Given the description of an element on the screen output the (x, y) to click on. 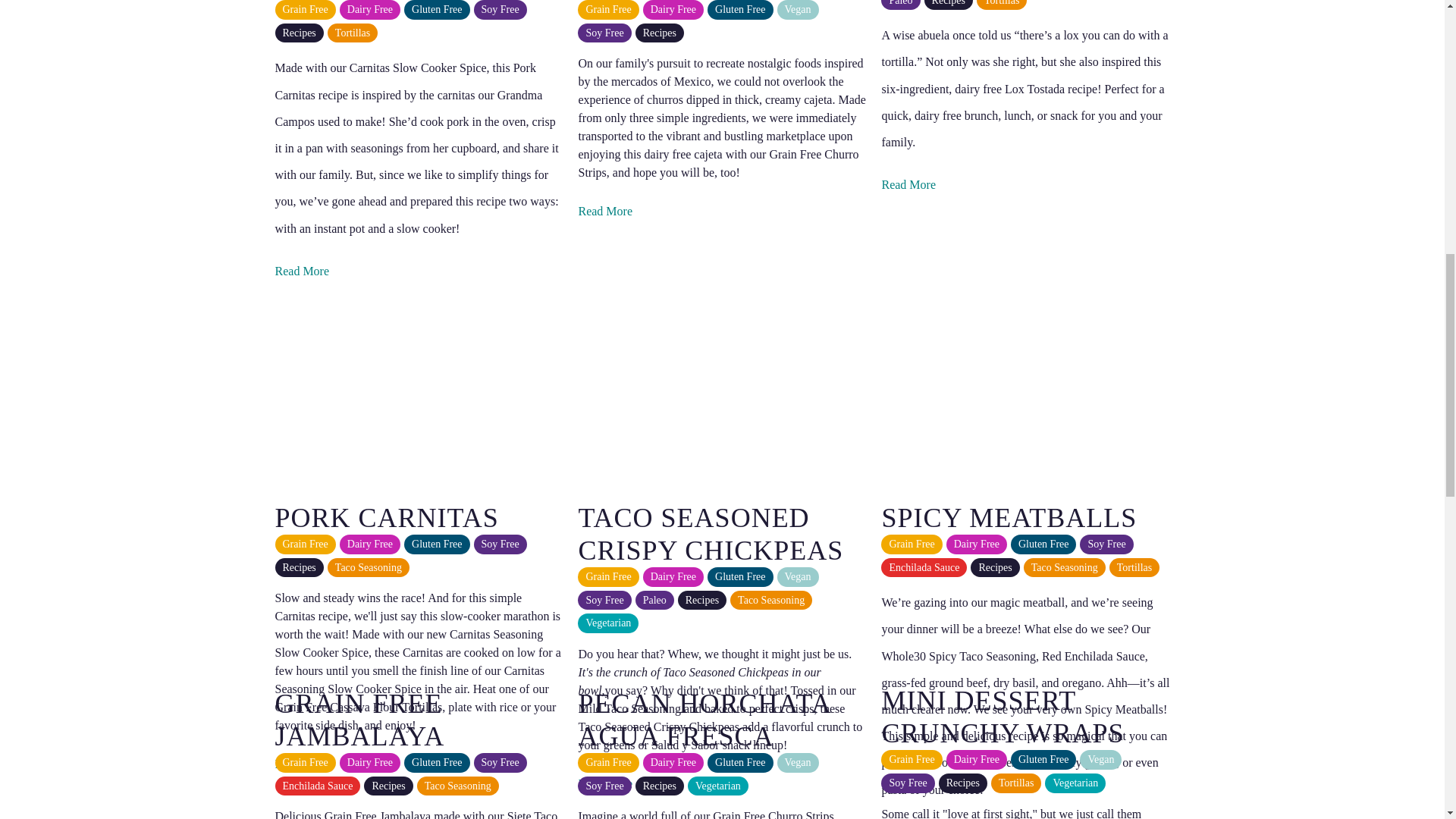
Recipes tagged Recipes (299, 33)
Recipes tagged soy free (500, 9)
Recipes tagged grain free (304, 9)
Recipes tagged dairy free (369, 9)
Recipes tagged gluten free (436, 9)
